Given the description of an element on the screen output the (x, y) to click on. 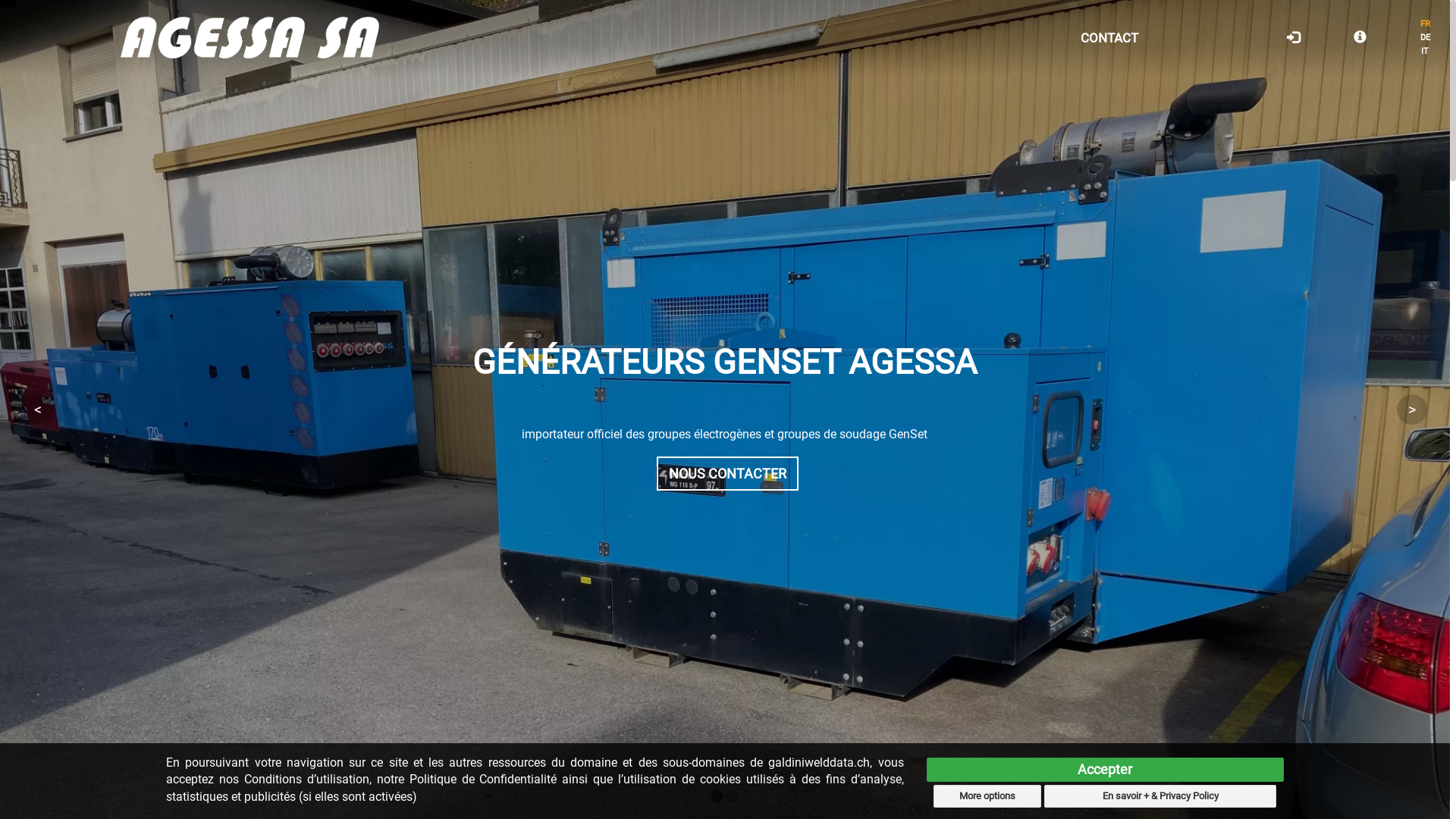
Log In Element type: hover (1292, 37)
DE Element type: text (1421, 37)
Information about this website Element type: hover (1359, 37)
En savoir + & Privacy Policy Element type: text (1160, 795)
FR Element type: text (1421, 24)
Accepter Element type: text (1104, 769)
 NOUS CONTACTER  Element type: text (727, 473)
IT Element type: text (1420, 51)
More options Element type: text (986, 795)
CONTACT Element type: text (1109, 37)
